Given the description of an element on the screen output the (x, y) to click on. 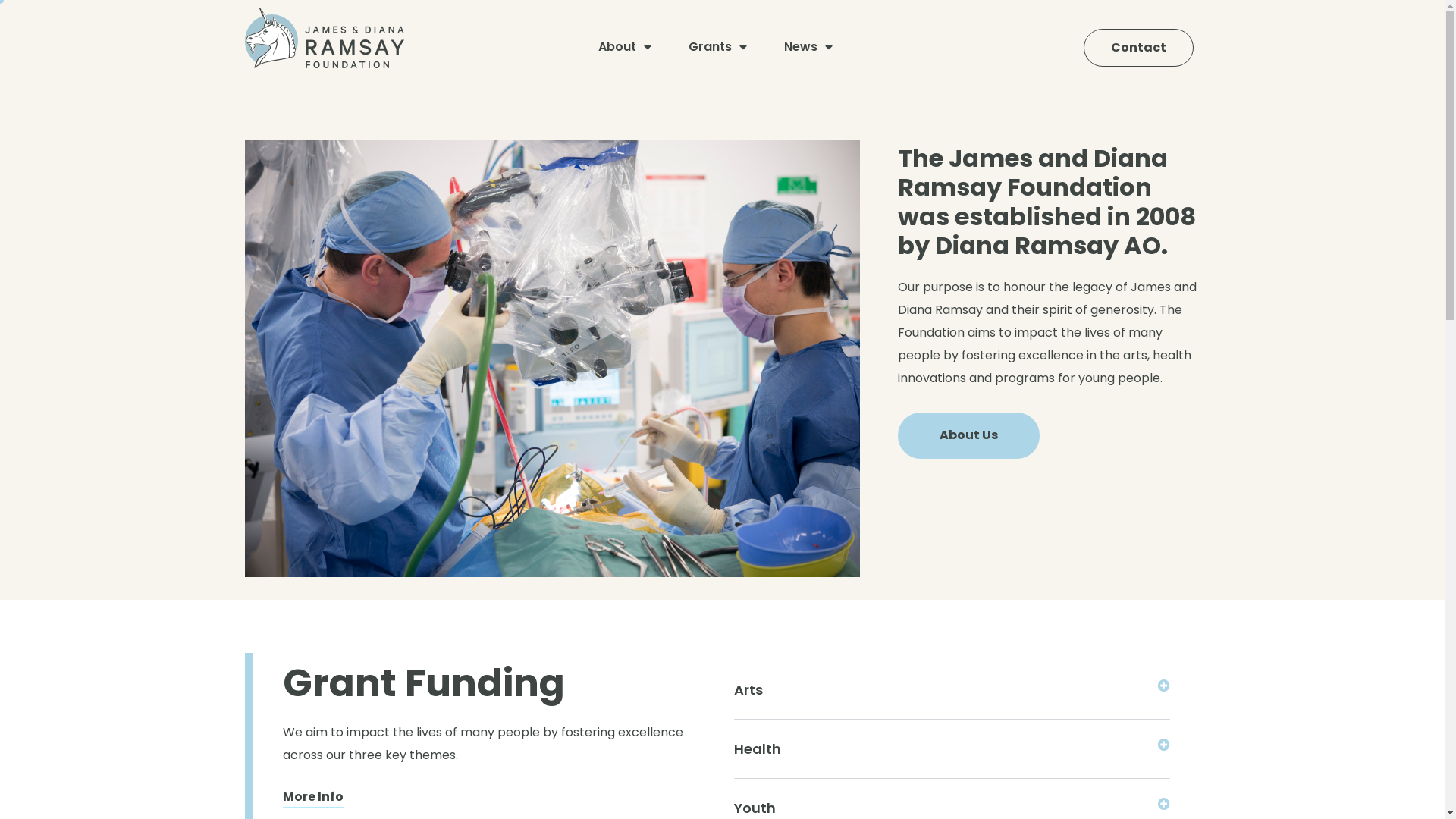
More Info Element type: text (312, 796)
Grants Element type: text (717, 46)
About Us Element type: text (968, 435)
Arts Element type: text (748, 689)
Youth Element type: text (754, 807)
News Element type: text (808, 46)
About Element type: text (624, 46)
Contact Element type: text (1138, 47)
Health Element type: text (757, 748)
